Given the description of an element on the screen output the (x, y) to click on. 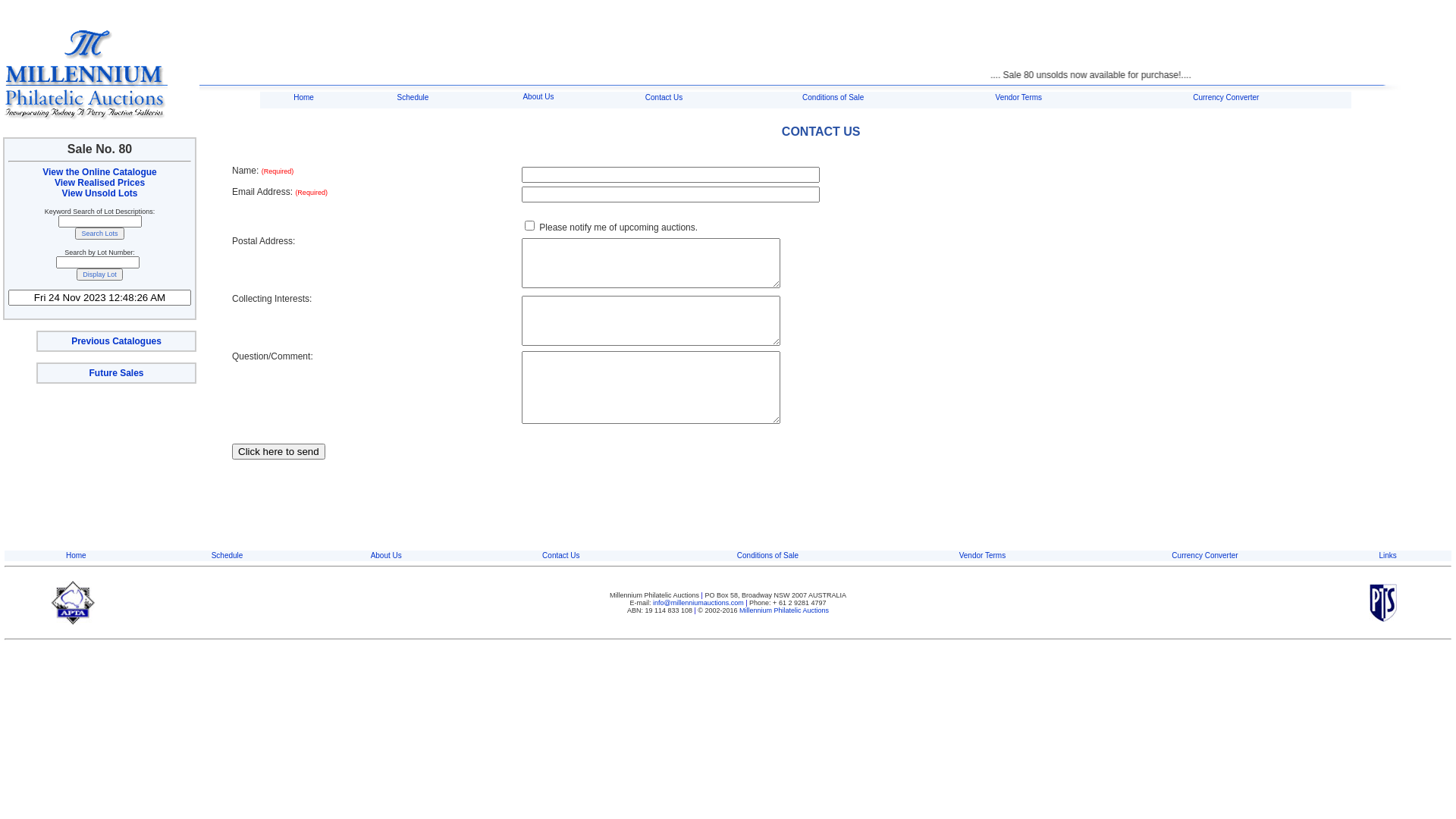
Links Element type: text (1387, 555)
Vendor Terms Element type: text (982, 555)
Contact Us Element type: text (560, 555)
Display Lot Element type: text (99, 274)
Search Lots Element type: text (99, 233)
Contact Us Element type: text (663, 97)
Future Sales Element type: text (115, 372)
Millennium Philatelic Auctions Element type: text (783, 610)
View Unsold Lots Element type: text (100, 193)
Click here to send Element type: text (278, 450)
About Us Element type: text (537, 96)
About Us Element type: text (385, 555)
Home Element type: text (303, 97)
Conditions of Sale Element type: text (767, 555)
View Realised Prices Element type: text (99, 182)
Schedule Element type: text (413, 97)
Vendor Terms Element type: text (1018, 97)
View the Online Catalogue Element type: text (99, 171)
Currency Converter Element type: text (1225, 97)
info@millenniumauctions.com Element type: text (698, 602)
Home Element type: text (75, 555)
Previous Catalogues Element type: text (116, 340)
Conditions of Sale Element type: text (832, 97)
Currency Converter Element type: text (1204, 555)
Schedule Element type: text (227, 555)
